Given the description of an element on the screen output the (x, y) to click on. 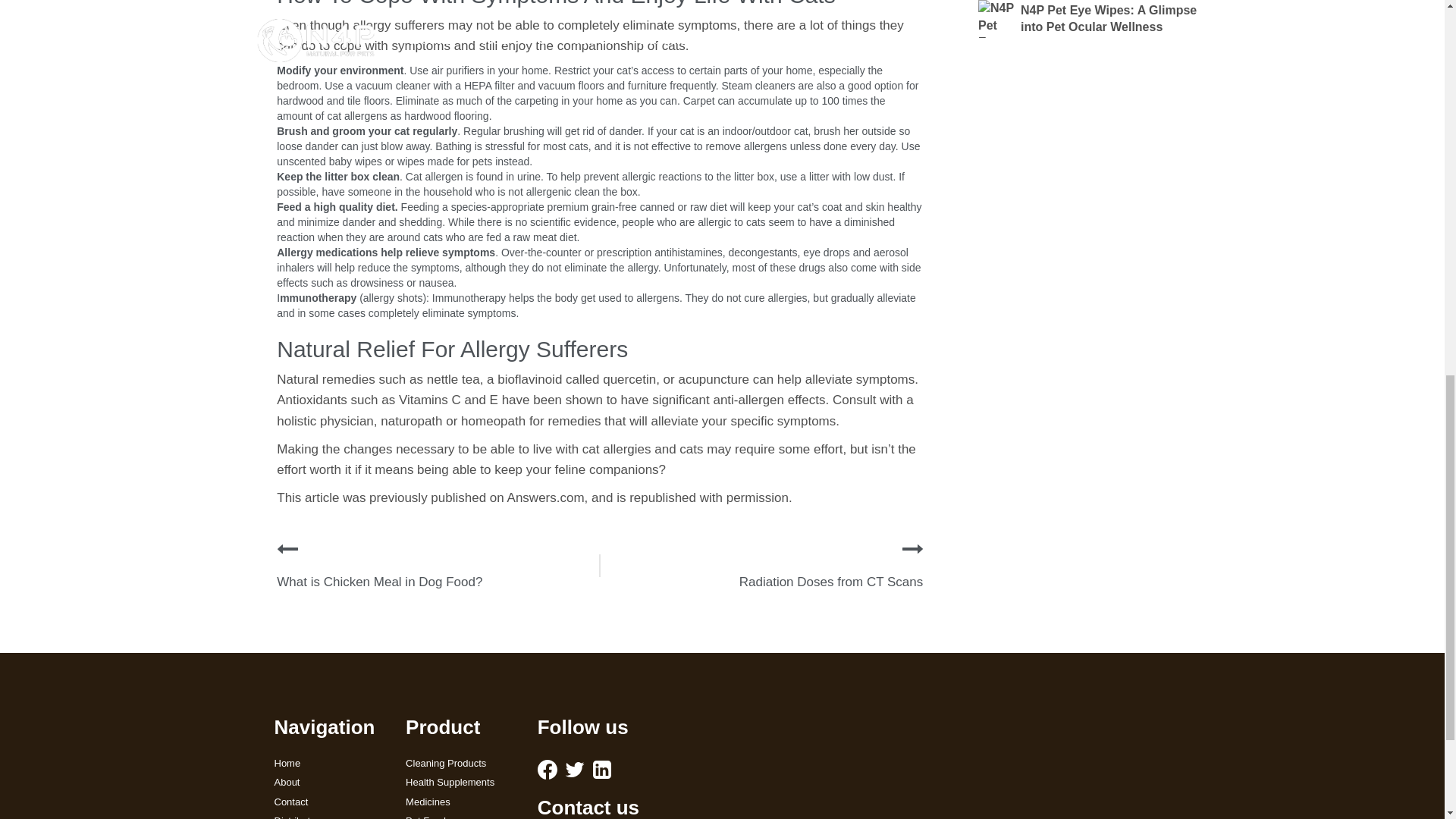
Home (329, 763)
What is Chicken Meal in Dog Food? (378, 581)
previous article (287, 548)
Twitter (574, 769)
Linkedin (601, 769)
N4P Pet Eye Wipes: A Glimpse into Pet Ocular Wellness (1088, 18)
next article (912, 548)
Radiation Doses from CT Scans (831, 581)
